Given the description of an element on the screen output the (x, y) to click on. 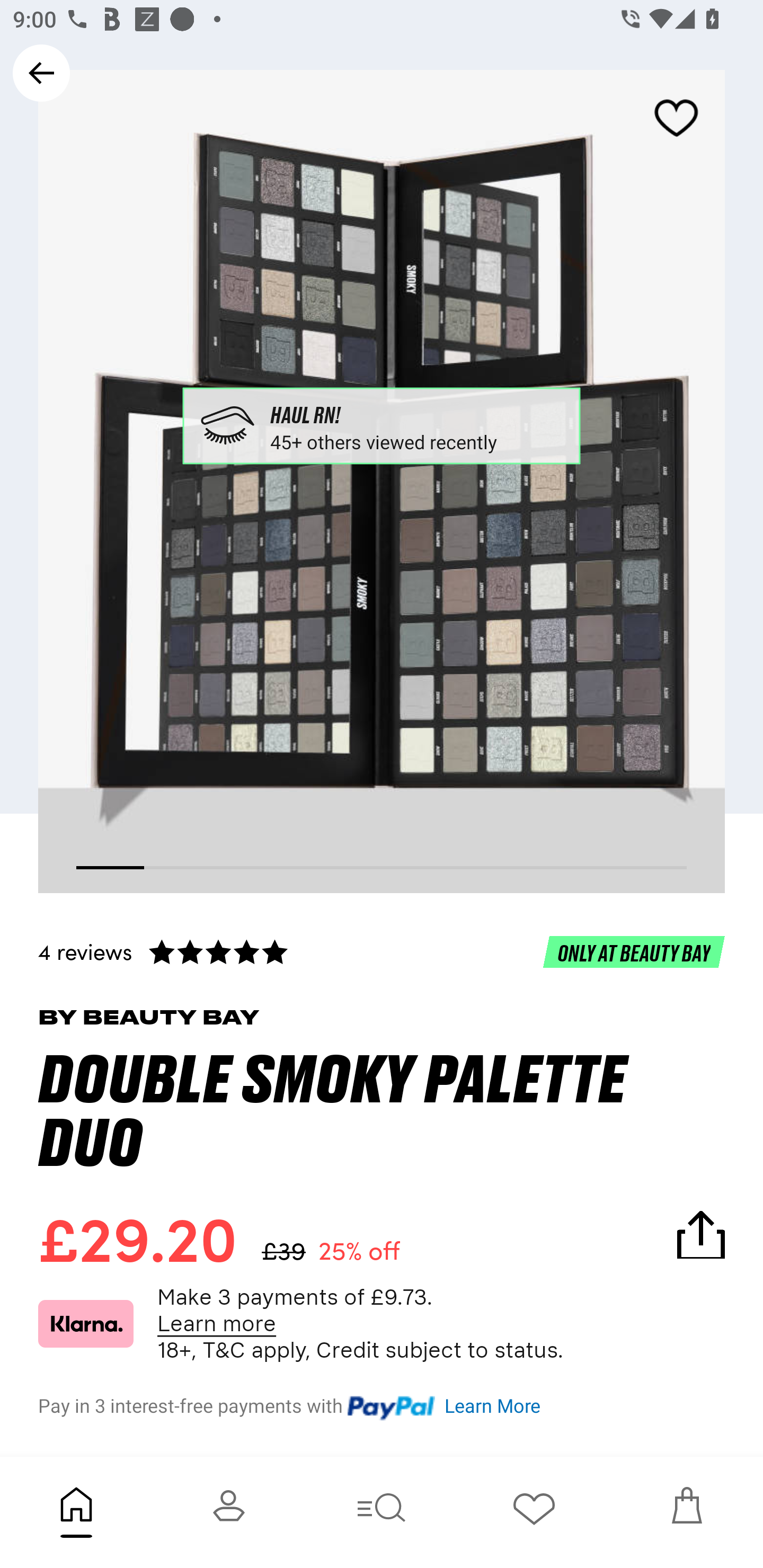
4 reviews (381, 950)
Pay in 3 interest-free payments with 0  Learn More (381, 1403)
